Given the description of an element on the screen output the (x, y) to click on. 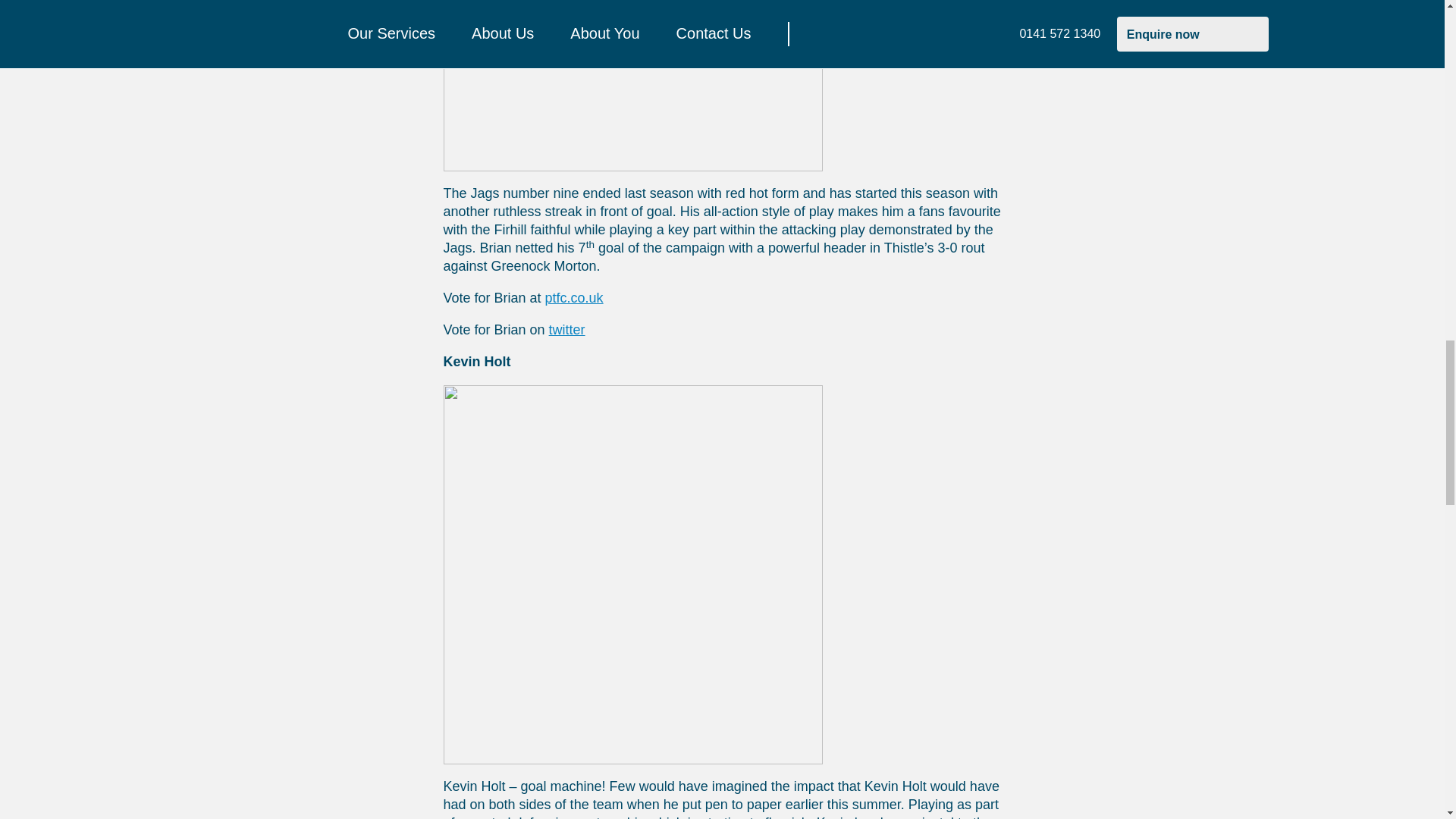
ptfc.co.uk (574, 297)
twitter (566, 329)
